Given the description of an element on the screen output the (x, y) to click on. 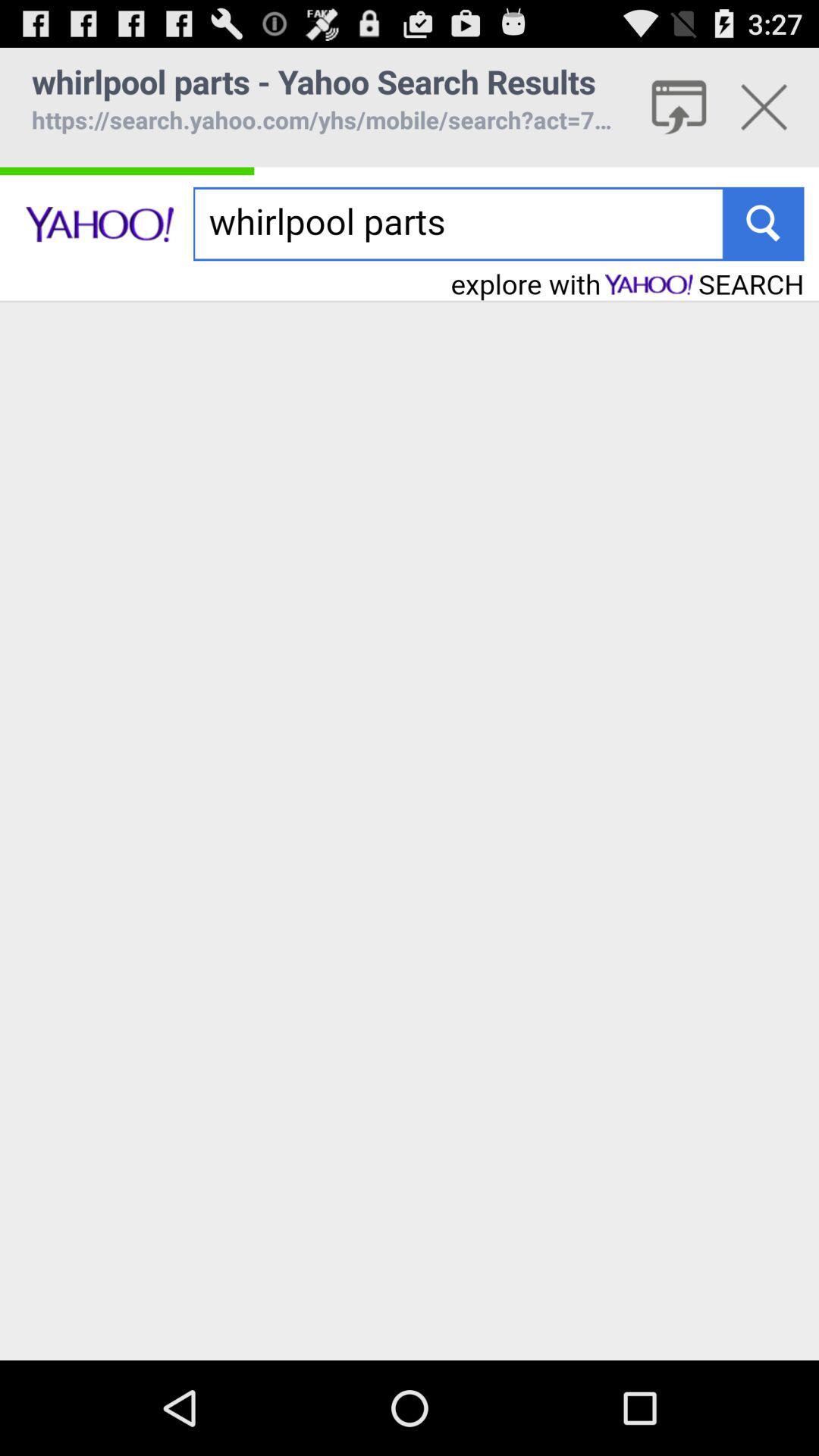
close (764, 107)
